Given the description of an element on the screen output the (x, y) to click on. 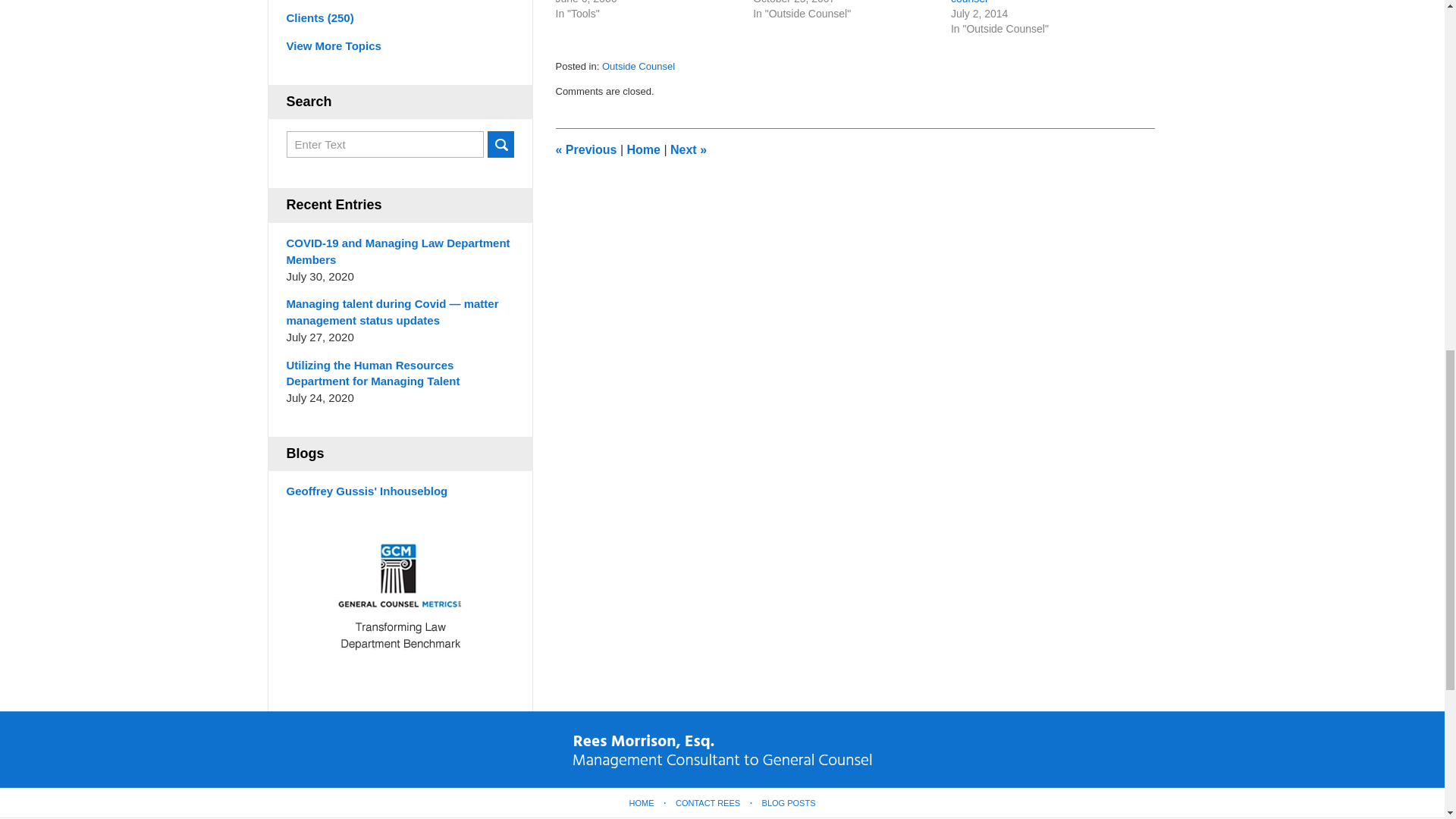
Outside Counsel (638, 66)
Home (642, 149)
View all posts in Outside Counsel (638, 66)
